Given the description of an element on the screen output the (x, y) to click on. 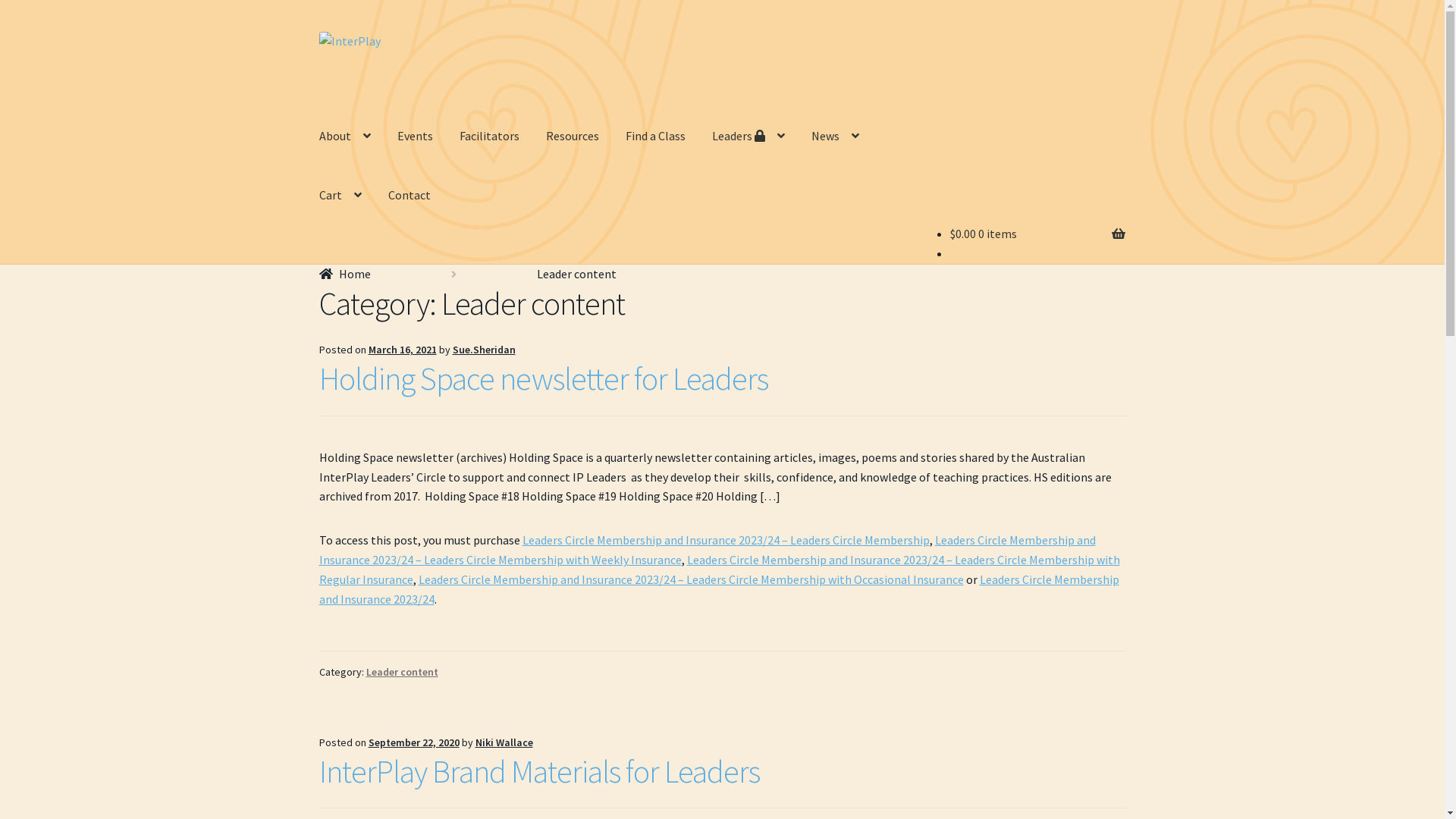
Leaders Circle Membership and Insurance 2023/24 Element type: text (719, 588)
Facilitators Element type: text (489, 136)
Skip to navigation Element type: text (318, 31)
Events Element type: text (415, 136)
Leader content Element type: text (402, 671)
$0.00 0 items Element type: text (983, 233)
Resources Element type: text (572, 136)
Contact Element type: text (409, 195)
Sue.Sheridan Element type: text (483, 349)
September 22, 2020 Element type: text (413, 742)
News Element type: text (835, 136)
Leaders Element type: text (748, 136)
Home Element type: text (345, 273)
Find a Class Element type: text (655, 136)
Niki Wallace Element type: text (504, 742)
InterPlay Brand Materials for Leaders Element type: text (539, 770)
About Element type: text (344, 136)
Cart Element type: text (340, 195)
March 16, 2021 Element type: text (402, 349)
Holding Space newsletter for Leaders Element type: text (543, 378)
